Given the description of an element on the screen output the (x, y) to click on. 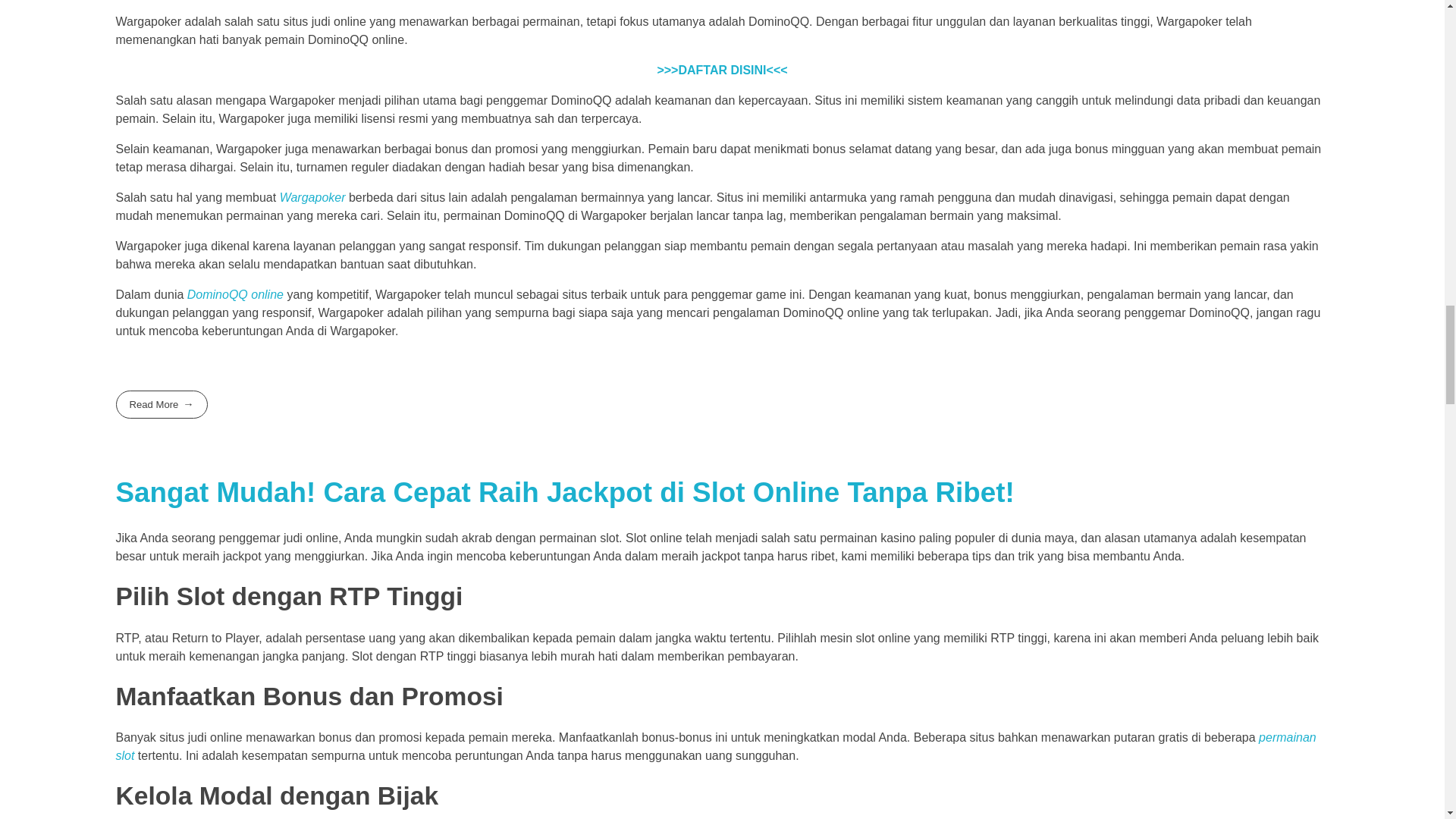
Wargapoker (312, 196)
DominoQQ online (235, 294)
Read More (160, 404)
permainan slot (715, 746)
